Given the description of an element on the screen output the (x, y) to click on. 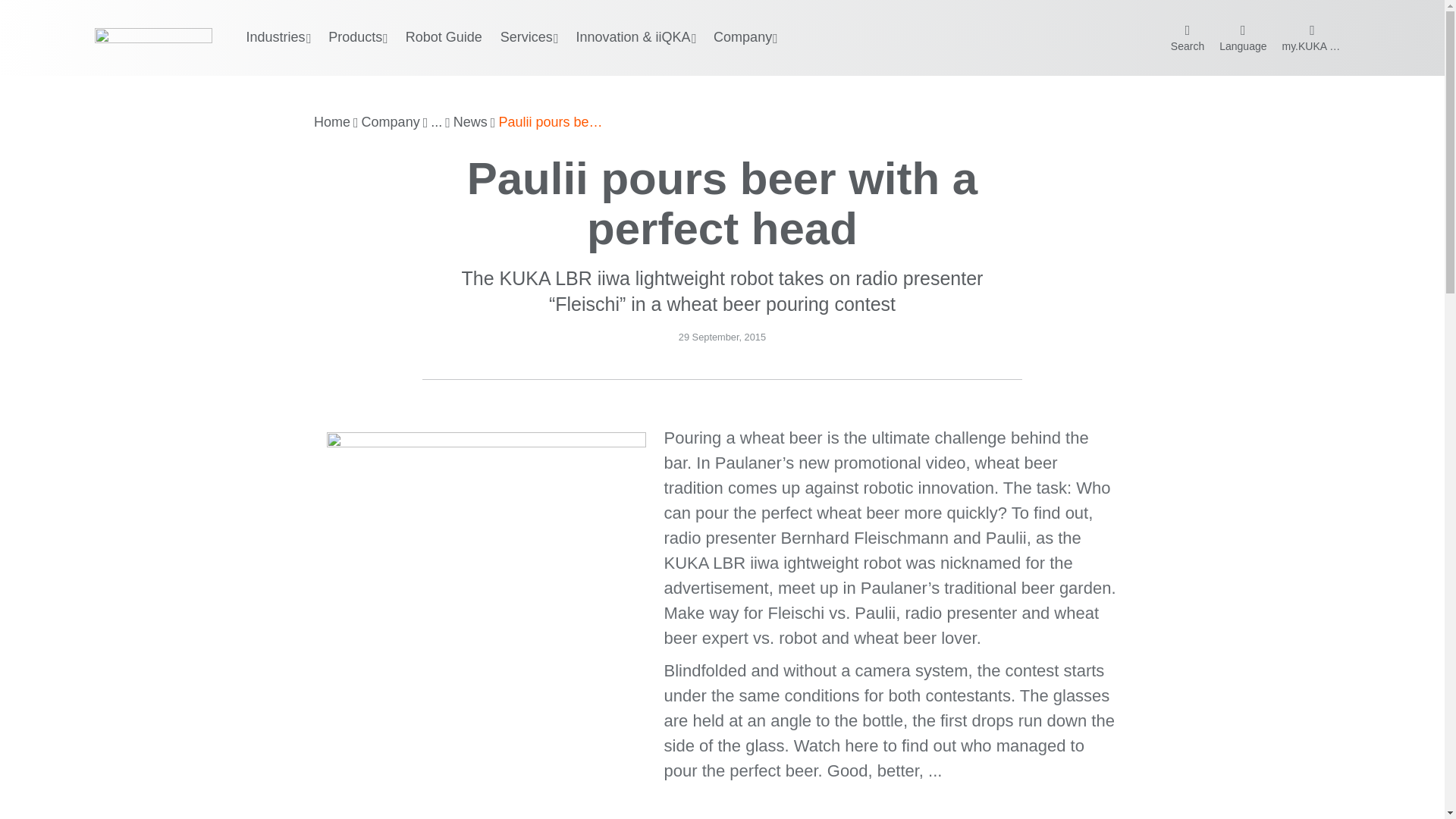
Company (390, 122)
Paulii pours beer with a perfect head (551, 122)
News (469, 122)
Home (332, 122)
